Given the description of an element on the screen output the (x, y) to click on. 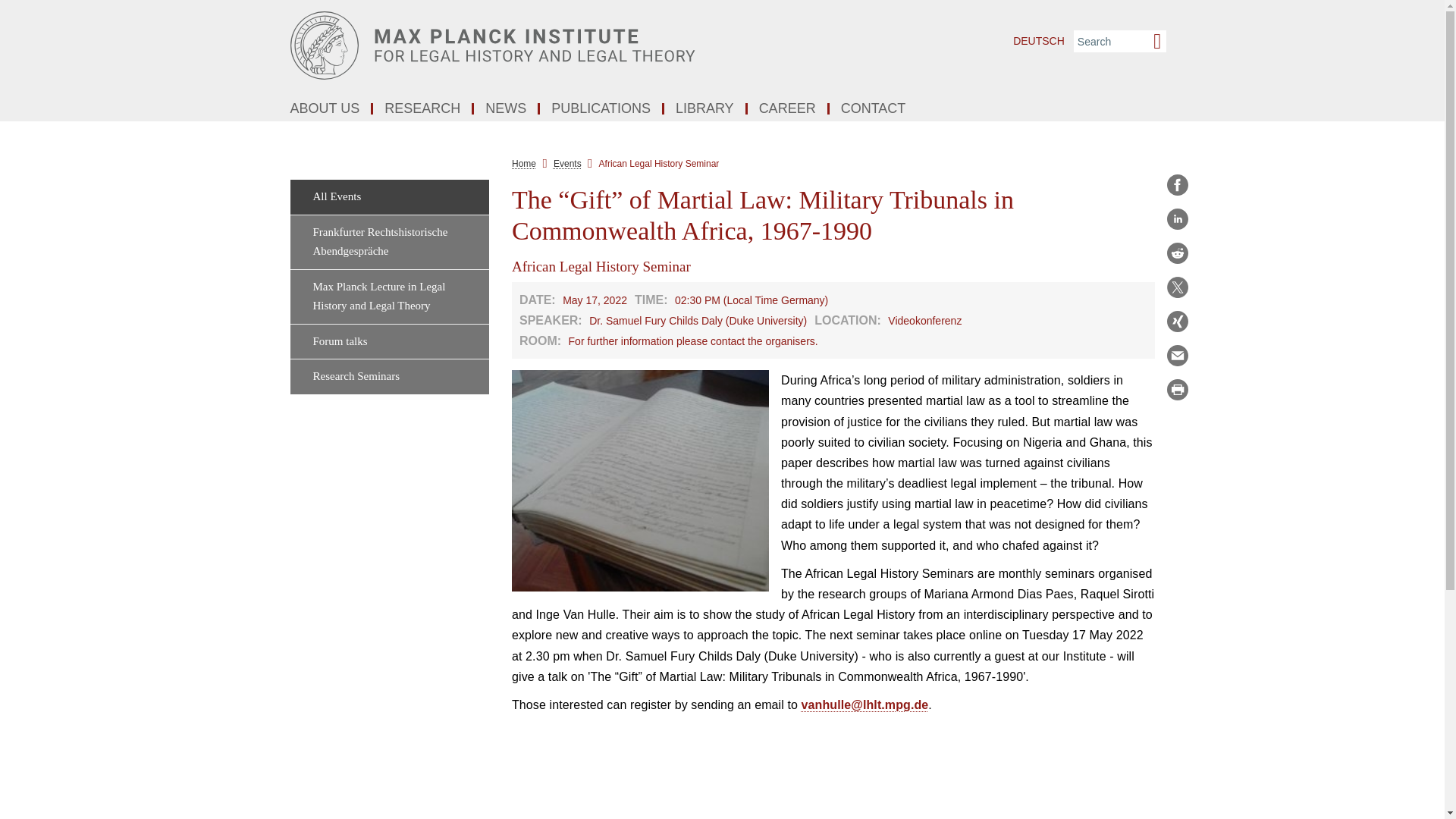
Xing (1177, 321)
ABOUT US (326, 108)
NEWS (507, 108)
RESEARCH (423, 108)
Print (1177, 389)
Twitter (1177, 287)
LinkedIn (1177, 219)
Facebook (1177, 184)
E-Mail (1177, 354)
DEUTSCH (1038, 41)
Reddit (1177, 252)
